Given the description of an element on the screen output the (x, y) to click on. 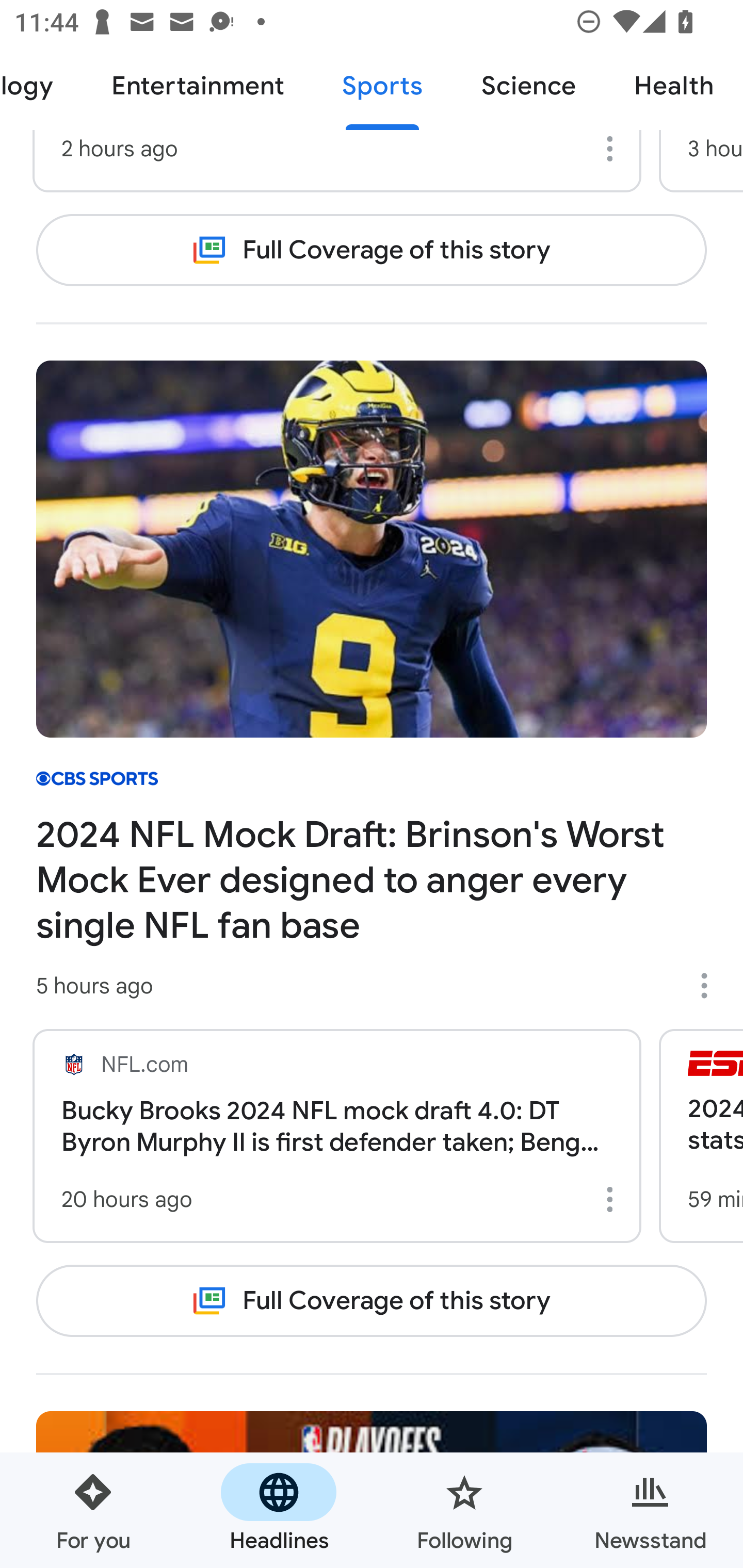
Entertainment (197, 86)
Science (527, 86)
Health (673, 86)
More options (613, 152)
Full Coverage of this story (371, 250)
More options (711, 985)
More options (613, 1199)
Full Coverage of this story (371, 1301)
For you (92, 1509)
Headlines (278, 1509)
Following (464, 1509)
Newsstand (650, 1509)
